Given the description of an element on the screen output the (x, y) to click on. 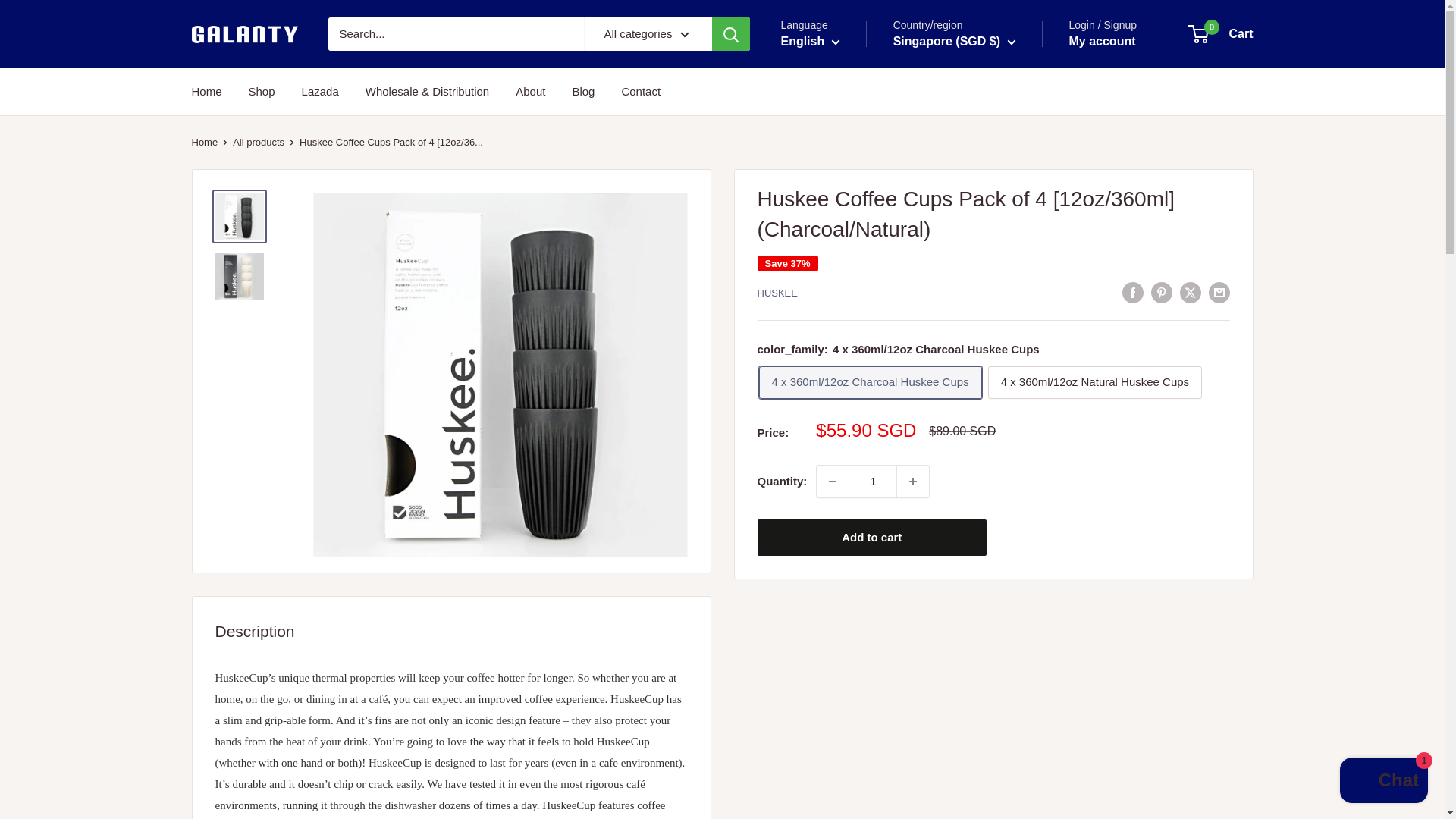
AW (894, 309)
Increase quantity by 1 (912, 481)
zh-CN (821, 102)
AZ (894, 396)
AL (894, 134)
Decrease quantity by 1 (832, 481)
AG (894, 242)
Shopify online store chat (1383, 781)
AO (894, 200)
AI (894, 221)
AT (894, 375)
BH (894, 440)
BB (894, 484)
AC (894, 331)
DZ (894, 156)
